Given the description of an element on the screen output the (x, y) to click on. 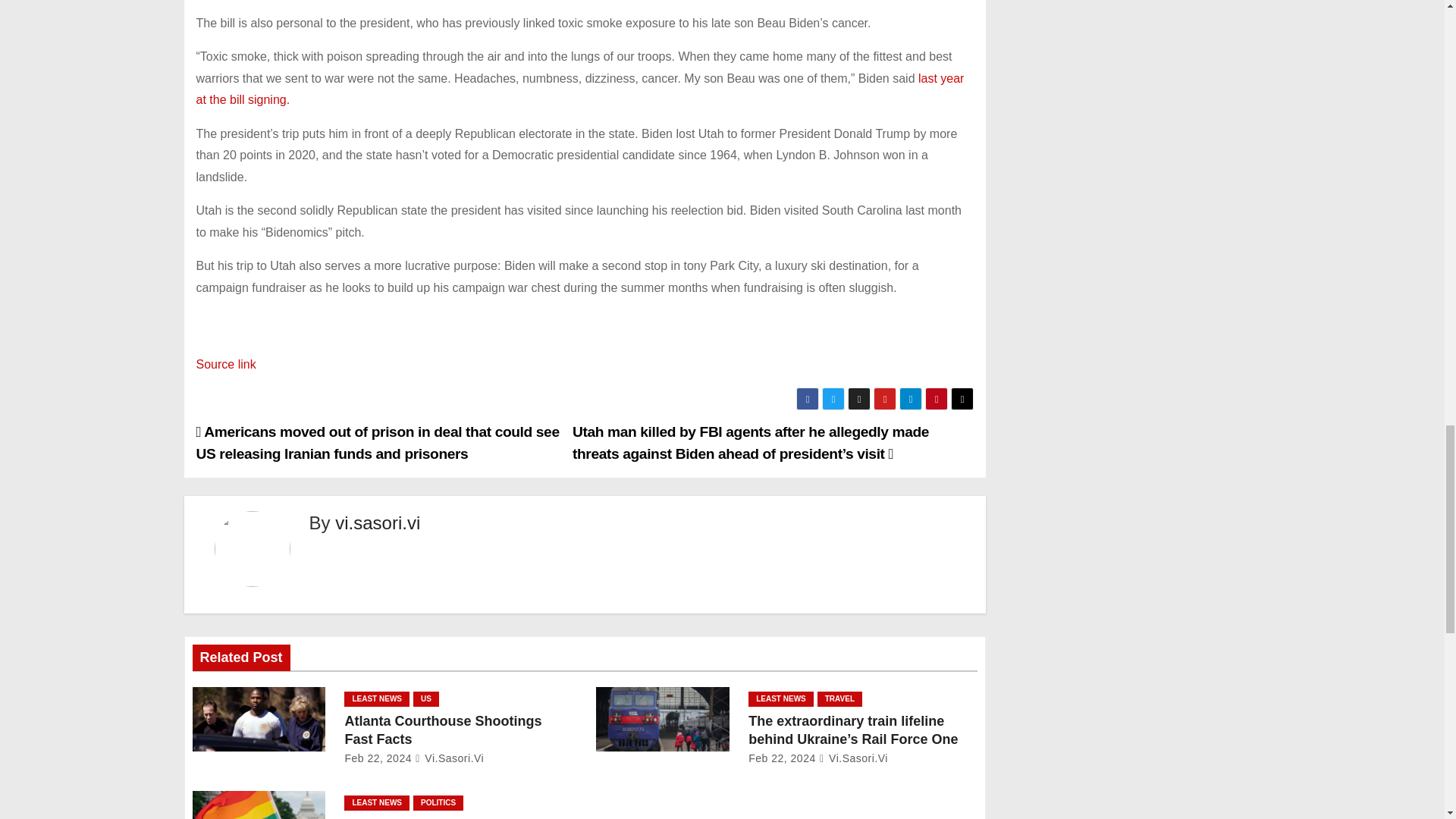
Permalink to: Atlanta Courthouse Shootings Fast Facts (442, 729)
Permalink to: The fine print of the Respect for Marriage Act (446, 817)
